Given the description of an element on the screen output the (x, y) to click on. 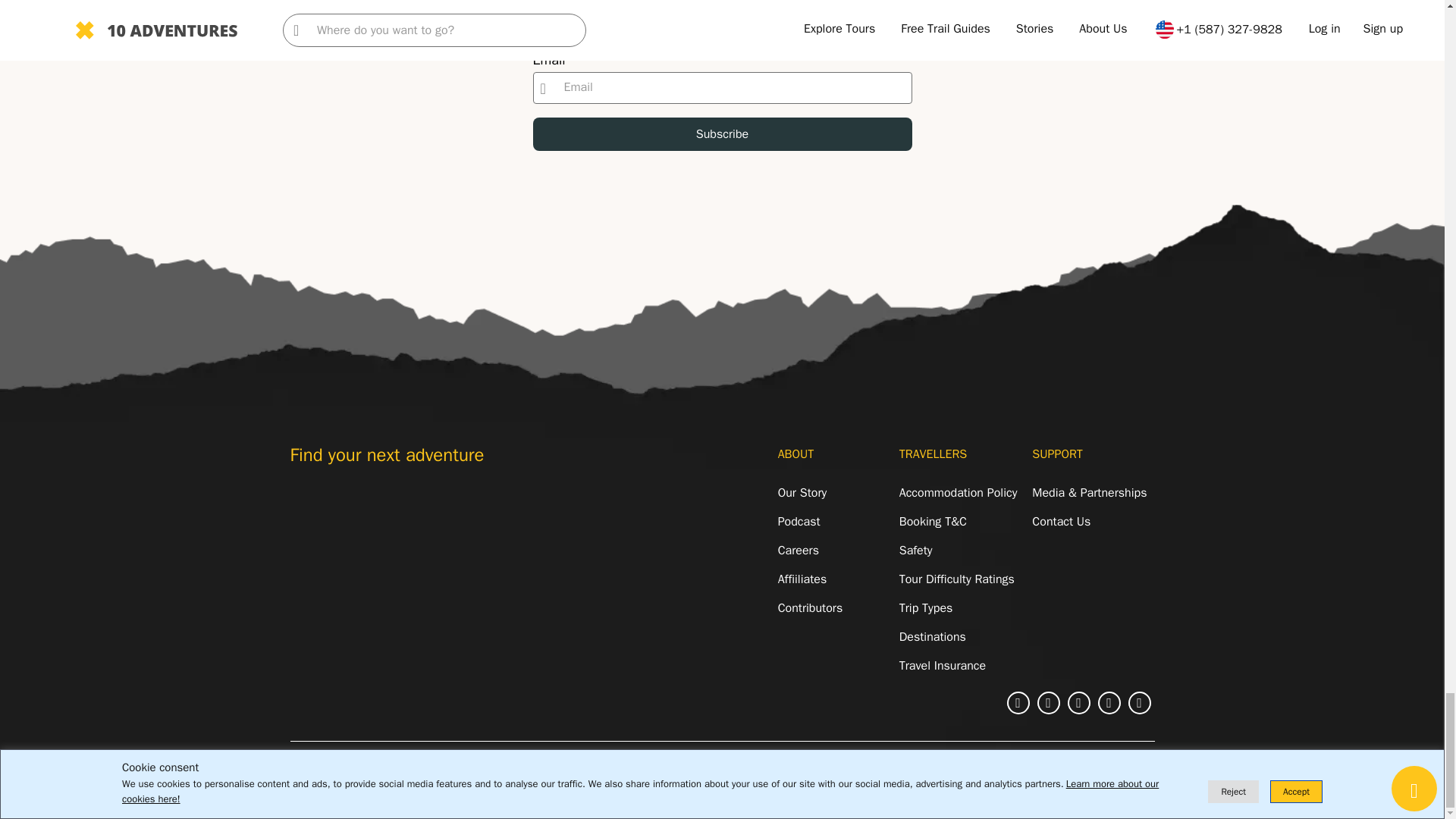
Adventure Travel Trade Association (338, 509)
